Given the description of an element on the screen output the (x, y) to click on. 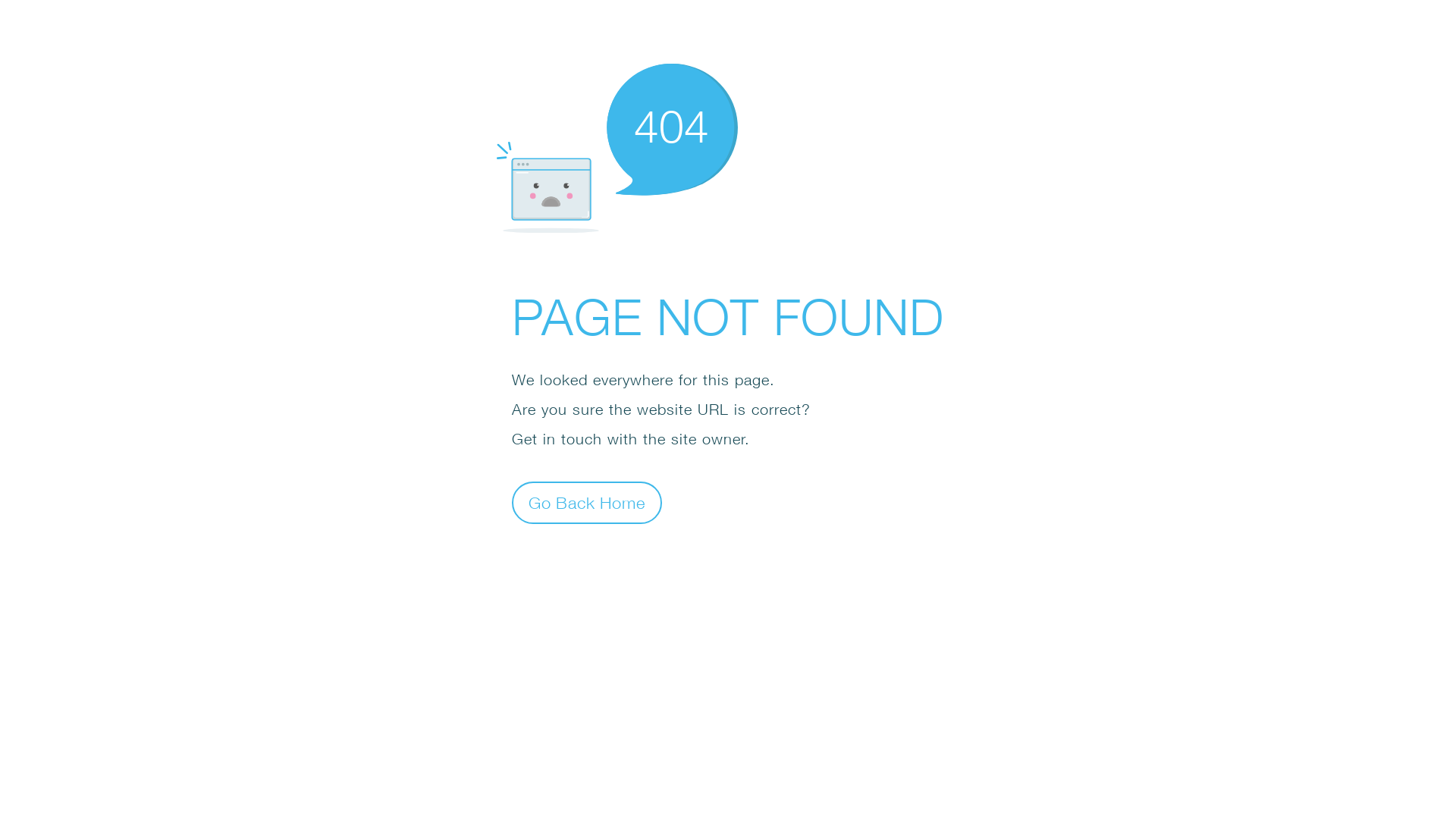
Go Back Home Element type: text (586, 502)
